Given the description of an element on the screen output the (x, y) to click on. 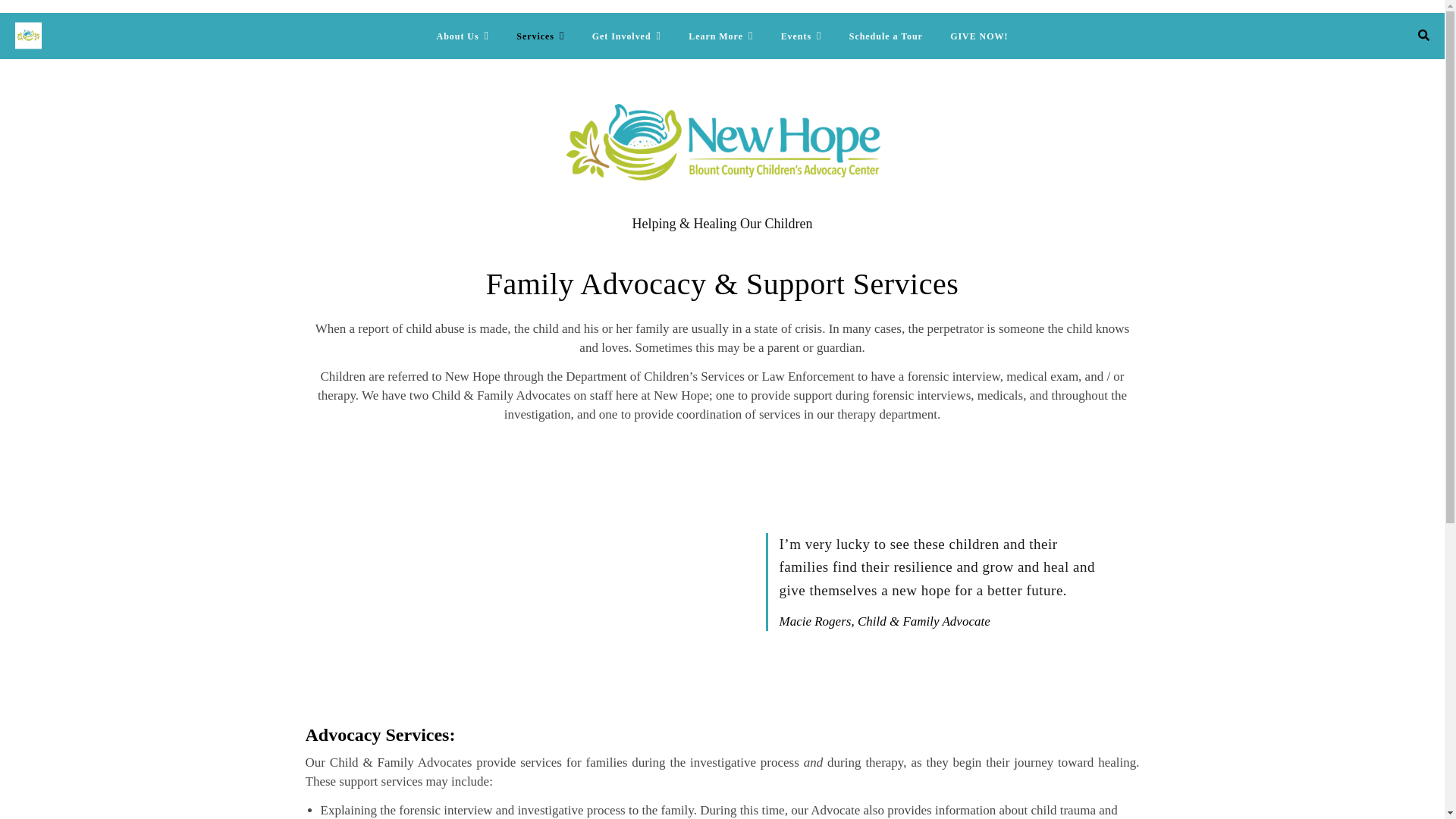
GIVE NOW! (972, 35)
New Hope (722, 141)
New Hope (28, 35)
Schedule a Tour (885, 35)
Services (539, 35)
Get Involved (625, 35)
About Us (468, 35)
Events (801, 35)
Learn More (721, 35)
